Given the description of an element on the screen output the (x, y) to click on. 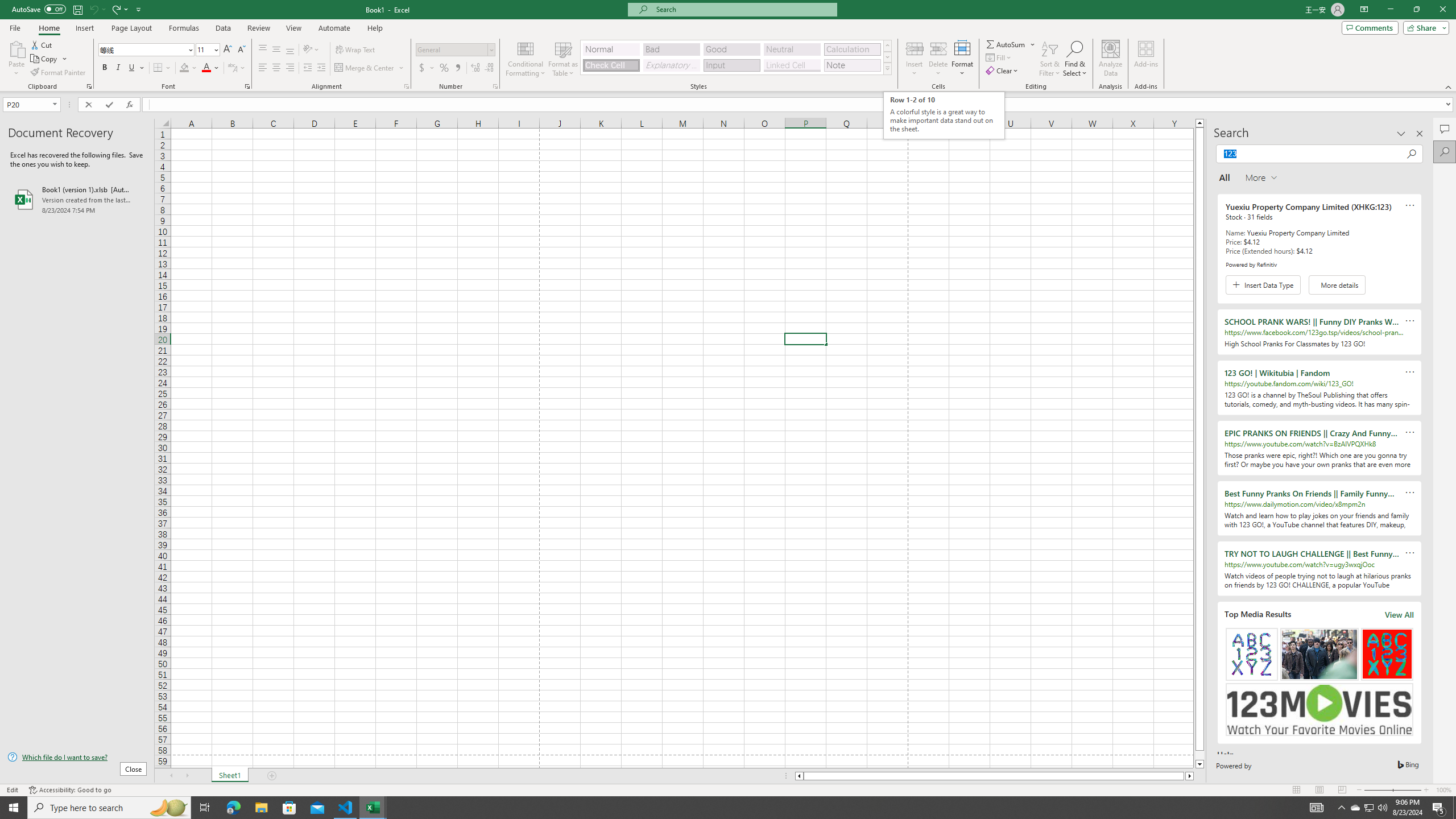
Borders (162, 67)
